Given the description of an element on the screen output the (x, y) to click on. 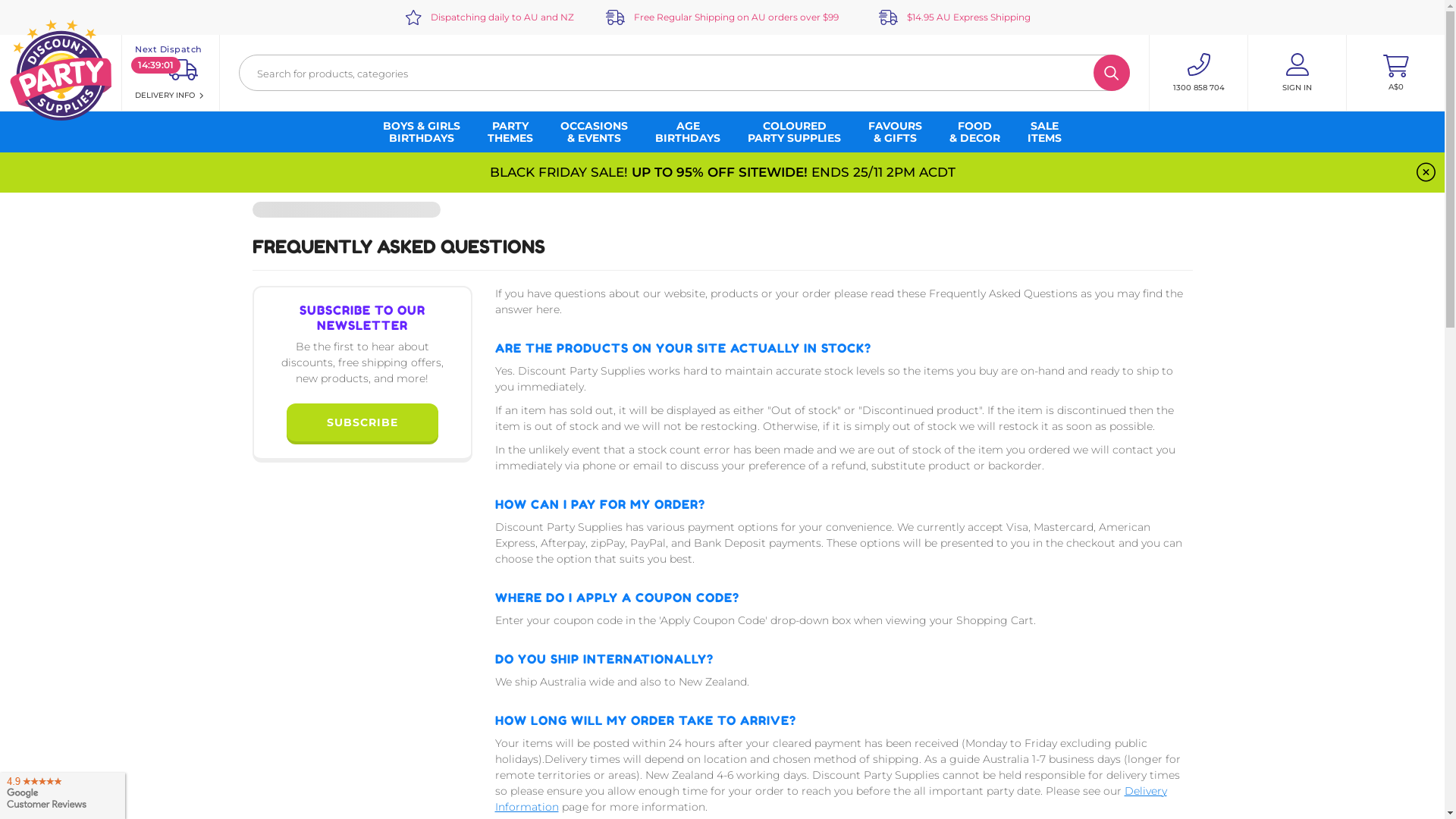
SUBSCRIBE Element type: text (362, 422)
Next Dispatch
DELIVERY INFO
14:39:09 Element type: text (170, 72)
PARTY
THEMES Element type: text (509, 131)
1300 858 704 Element type: text (1197, 72)
FAVOURS
& GIFTS Element type: text (894, 131)
FOOD
& DECOR Element type: text (974, 131)
SIGN IN Element type: text (1297, 72)
A$0 Element type: text (1395, 72)
Google Customer Reviews Element type: hover (62, 792)
SUBSCRIBE Element type: text (361, 422)
OCCASIONS
& EVENTS Element type: text (593, 131)
AGE
BIRTHDAYS Element type: text (687, 131)
Close Header Notification Element type: text (1425, 172)
Delivery Information Element type: text (830, 798)
COLOURED
PARTY SUPPLIES Element type: text (794, 131)
BOYS & GIRLS
BIRTHDAYS Element type: text (421, 131)
SALE
ITEMS Element type: text (1044, 131)
